Given the description of an element on the screen output the (x, y) to click on. 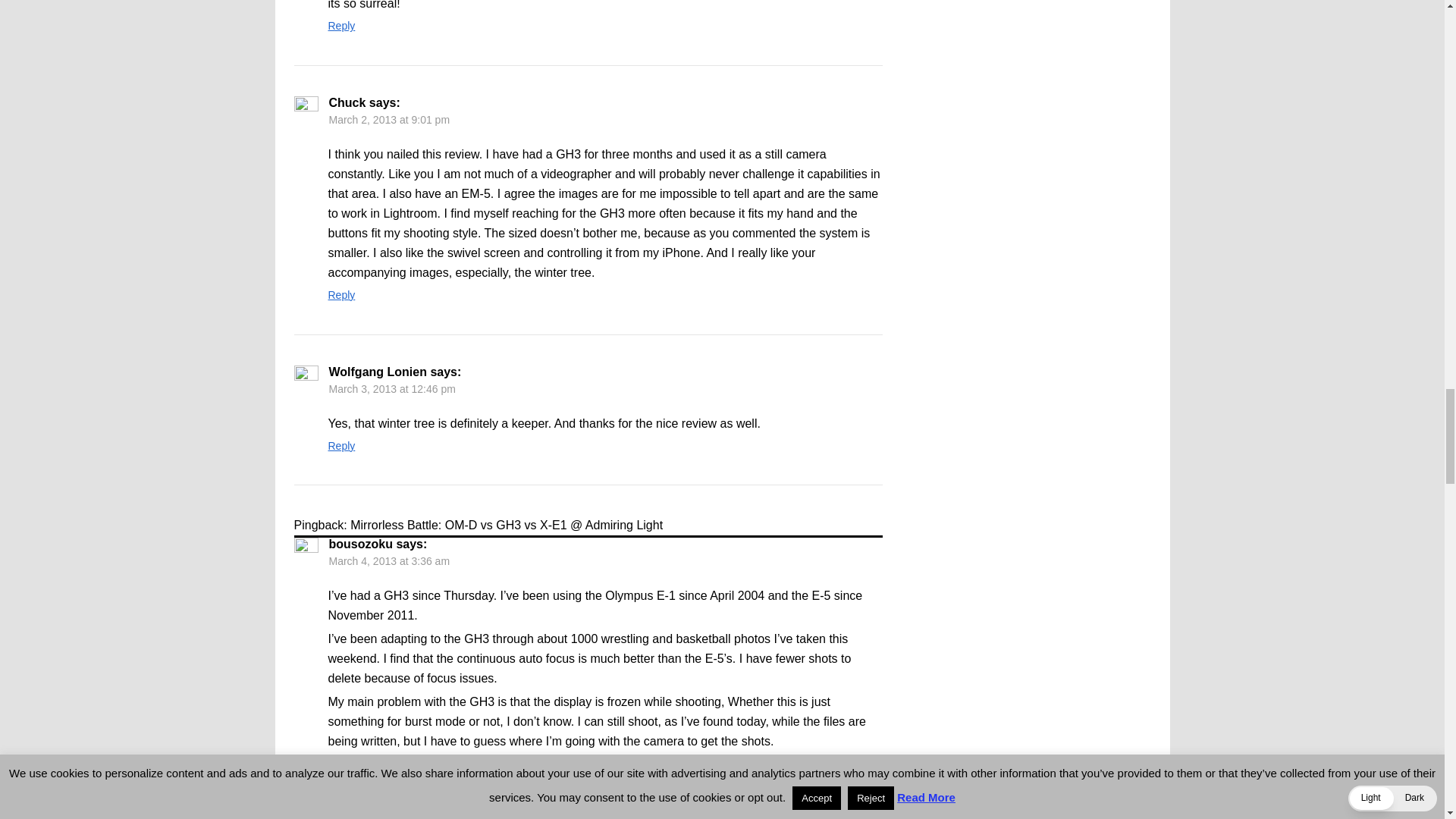
March 2, 2013 at 9:01 pm (389, 119)
Reply (341, 295)
Reply (341, 25)
March 3, 2013 at 12:46 pm (392, 388)
